Given the description of an element on the screen output the (x, y) to click on. 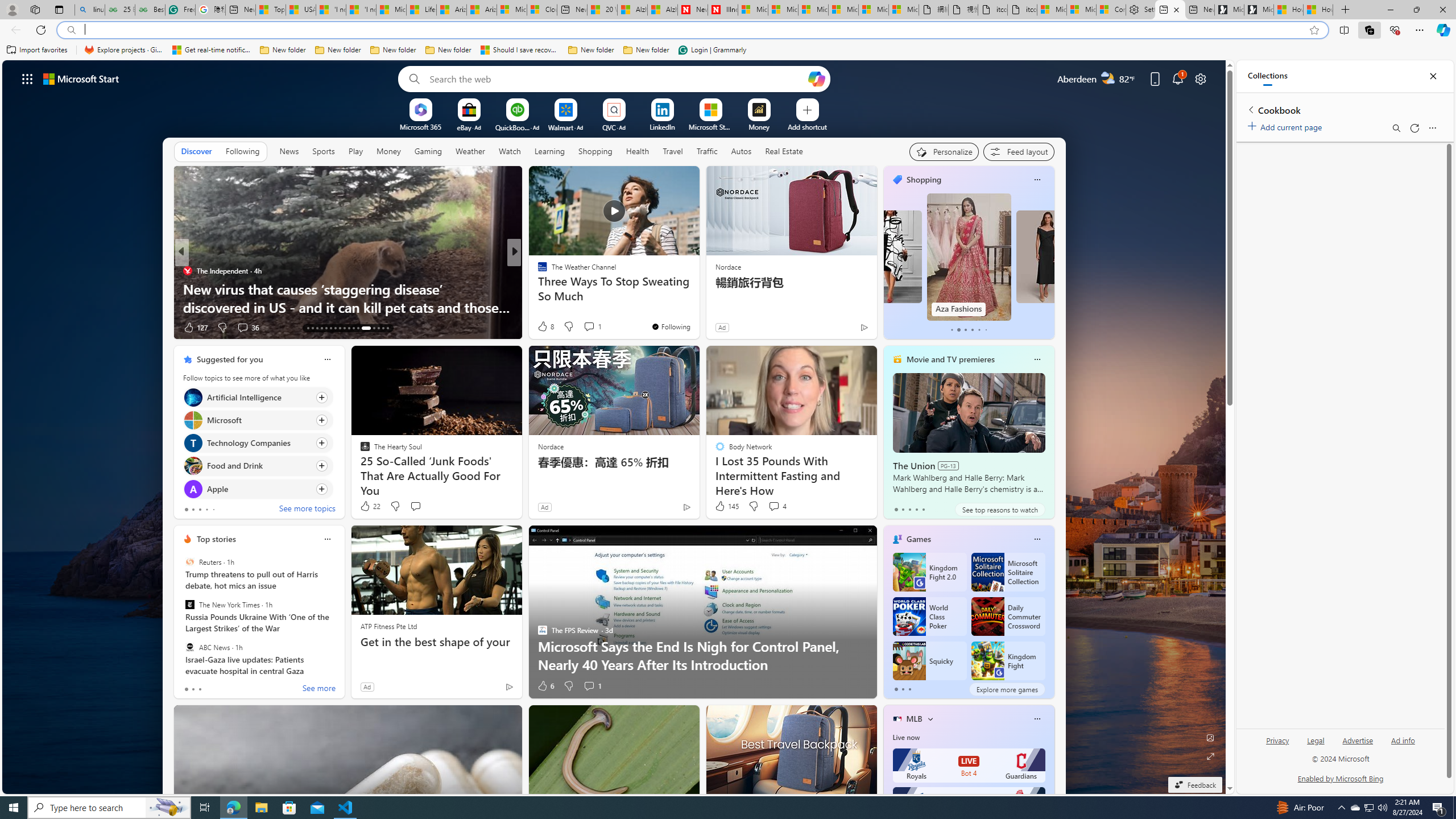
Feed settings (1018, 151)
Favorites bar (728, 49)
App launcher (27, 78)
View comments 7 Comment (592, 327)
AutomationID: tab-17 (326, 328)
tab-2 (908, 689)
